Given the description of an element on the screen output the (x, y) to click on. 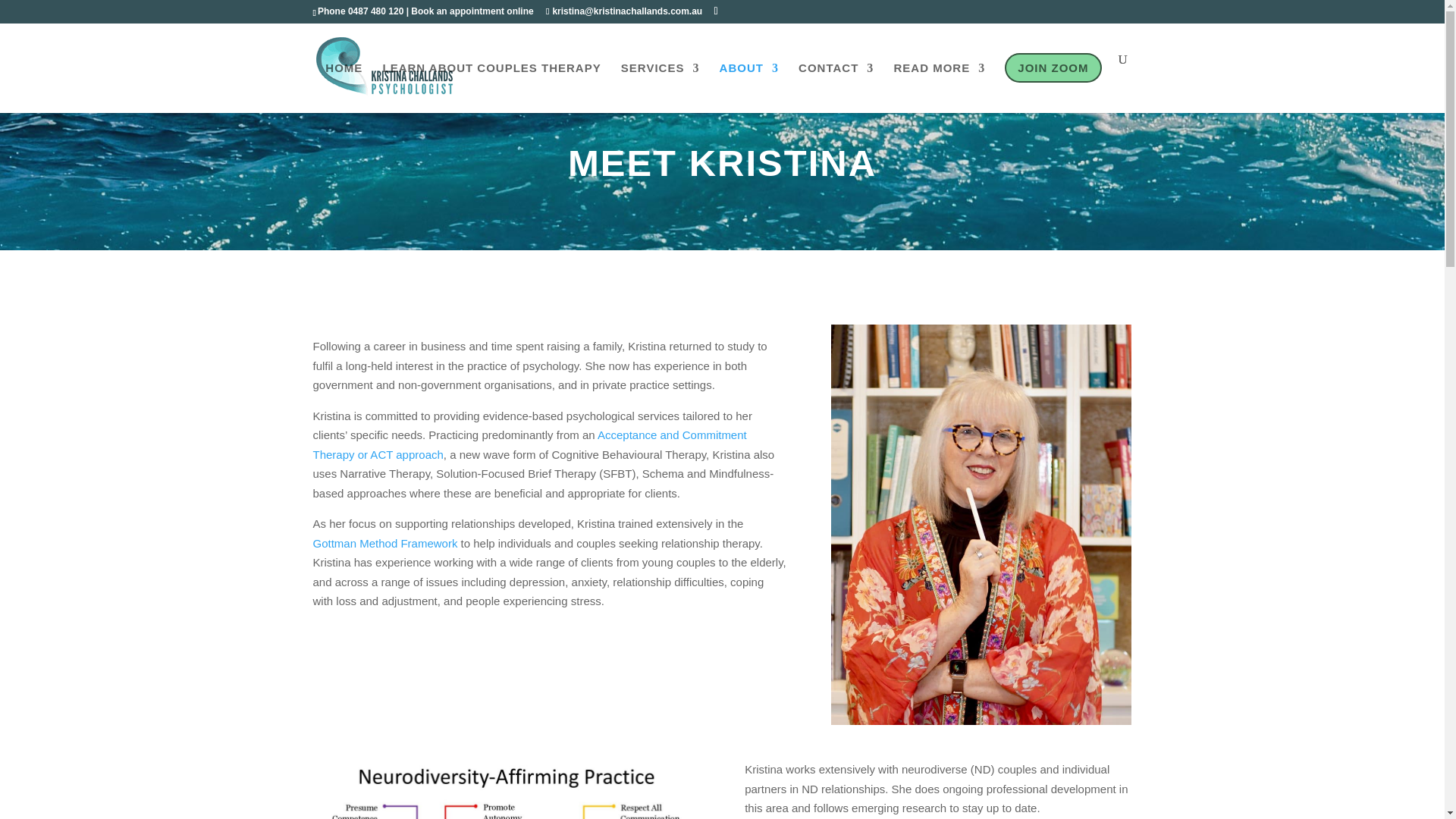
JOIN ZOOM (1052, 83)
CONTACT (835, 82)
Book an appointment online (471, 10)
SERVICES (660, 82)
ABOUT (748, 82)
READ MORE (939, 82)
LEARN ABOUT COUPLES THERAPY (491, 82)
HOME (343, 82)
0487 480 120 (375, 10)
